Given the description of an element on the screen output the (x, y) to click on. 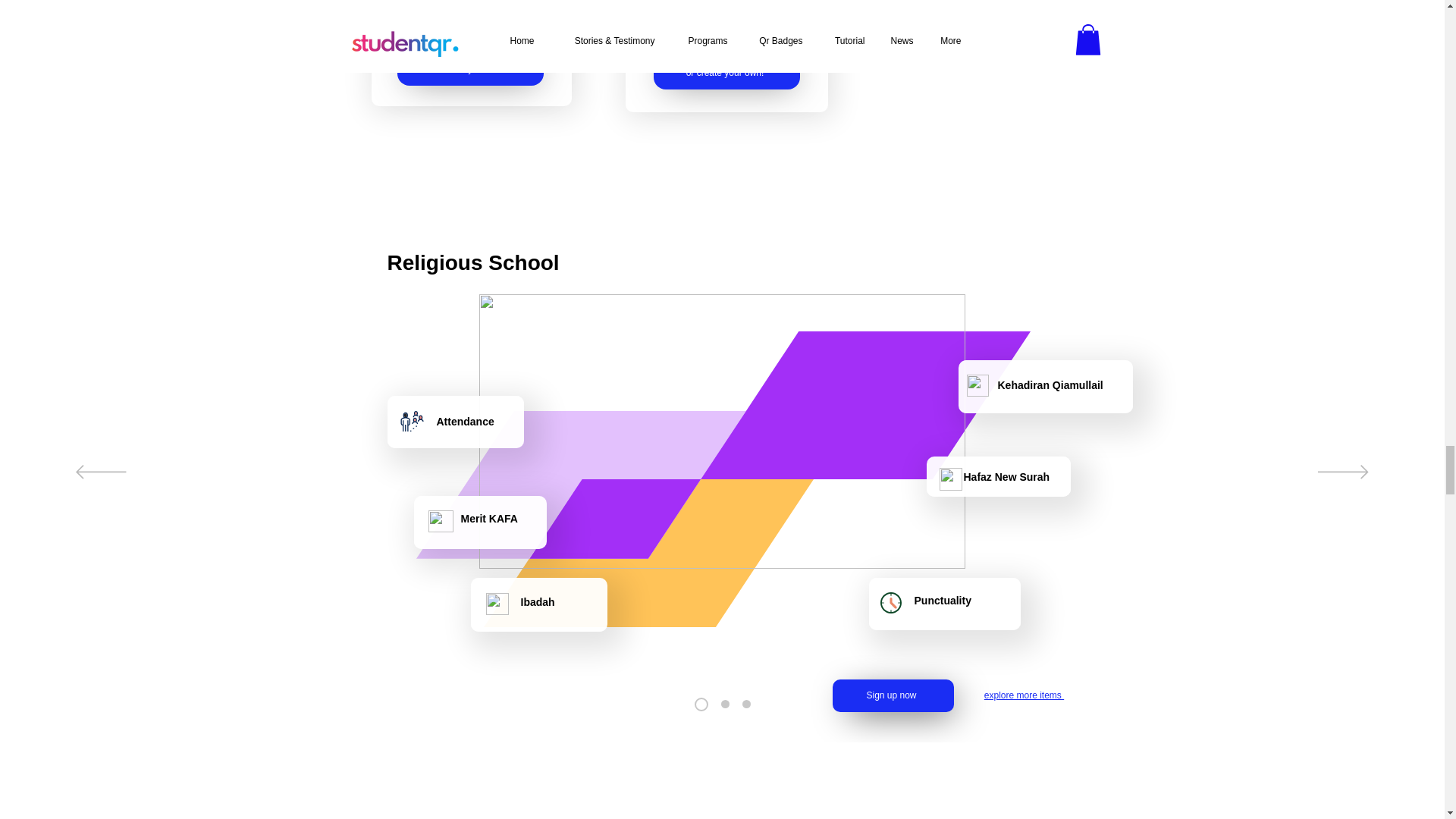
Sign up now (892, 695)
or create your own! (470, 69)
or create your own! (726, 72)
